Given the description of an element on the screen output the (x, y) to click on. 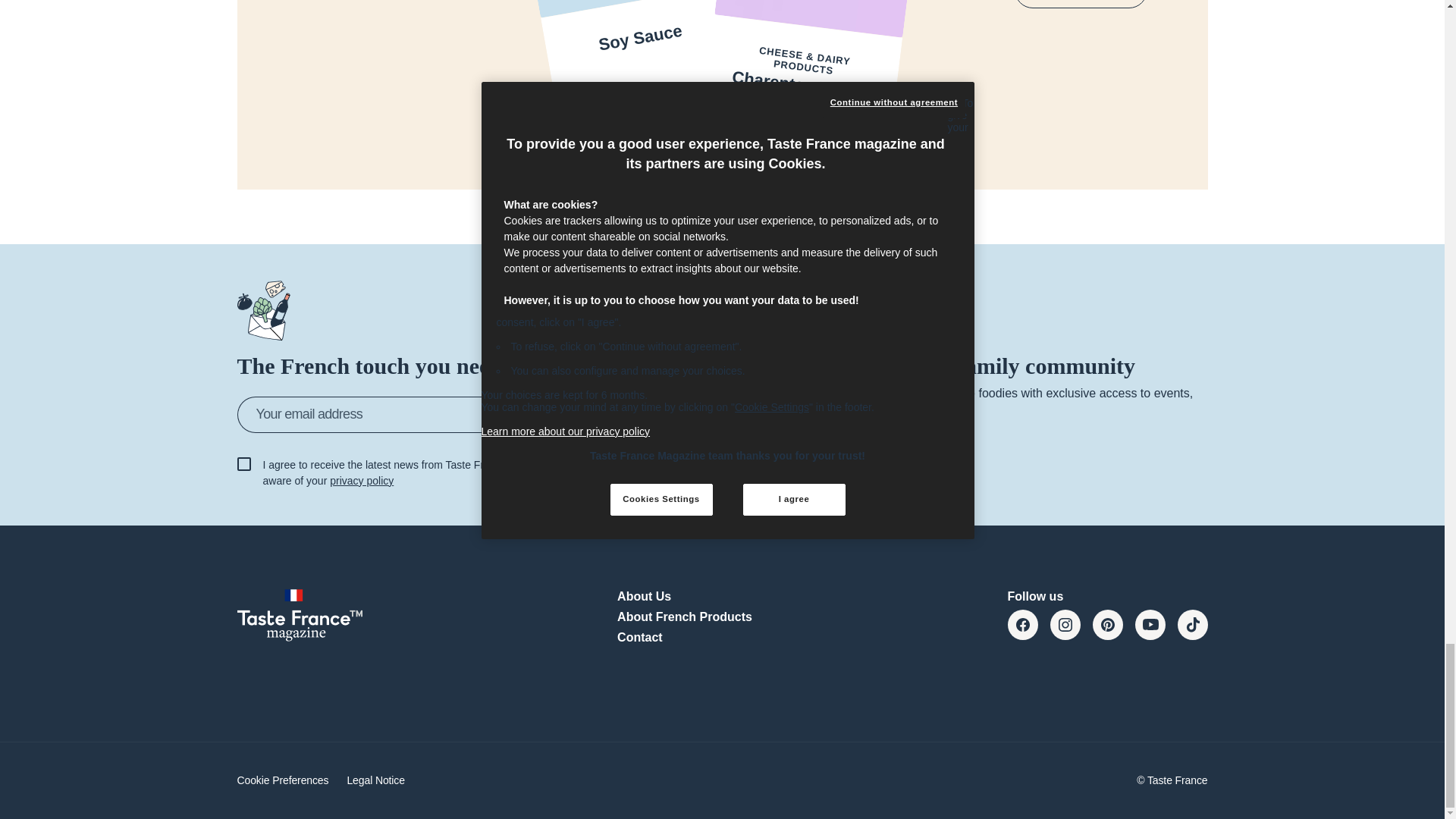
Sign In (596, 414)
1 (242, 463)
Another (1080, 4)
